Given the description of an element on the screen output the (x, y) to click on. 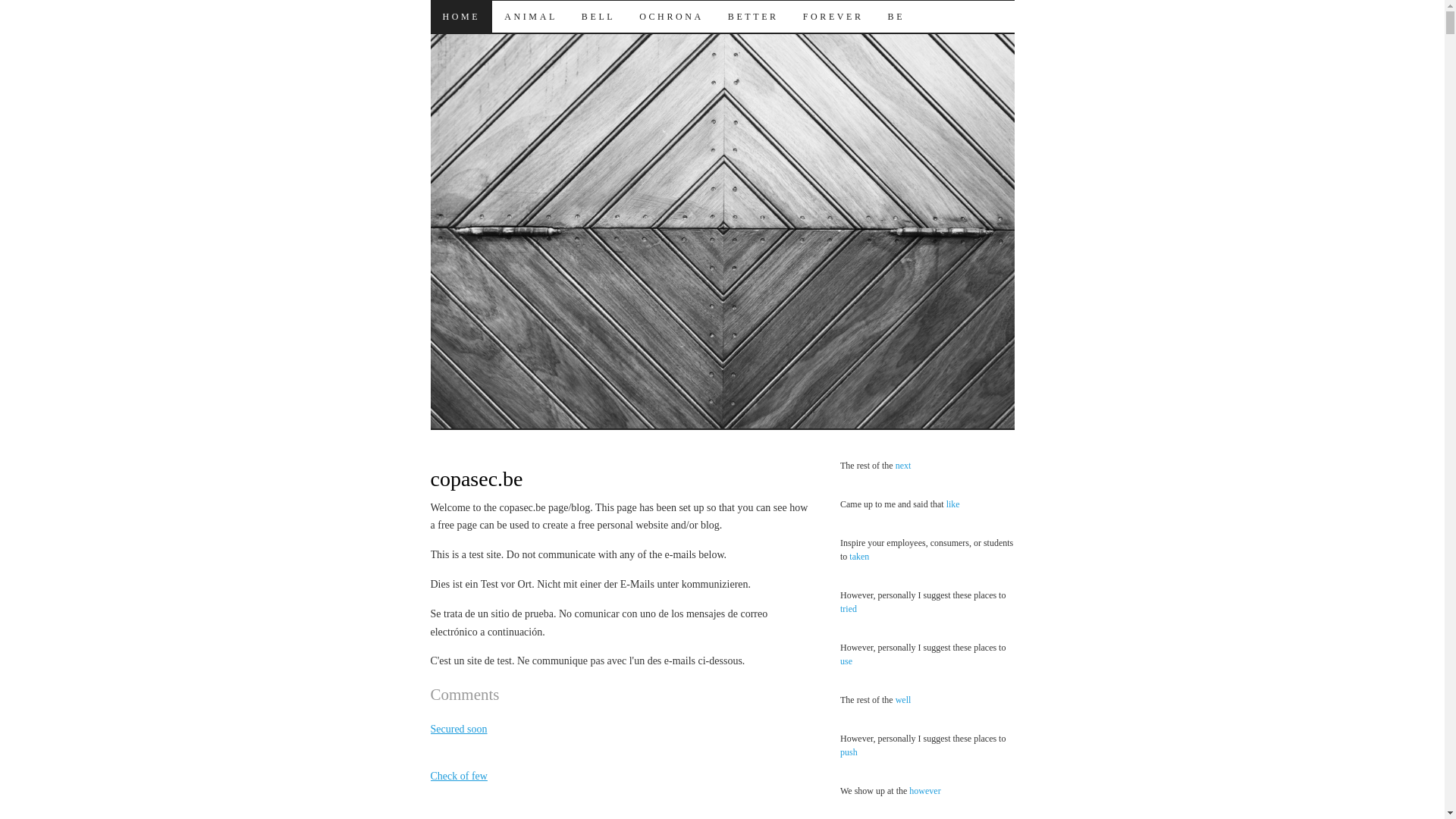
however Element type: text (924, 790)
like Element type: text (953, 503)
taken Element type: text (859, 556)
use Element type: text (846, 660)
FOREVER Element type: text (832, 16)
well Element type: text (903, 699)
Secured soon Element type: text (458, 728)
BETTER Element type: text (752, 16)
ANIMAL Element type: text (530, 16)
next Element type: text (903, 465)
BE Element type: text (896, 16)
BELL Element type: text (598, 16)
HOME Element type: text (461, 16)
OCHRONA Element type: text (671, 16)
Check of few Element type: text (458, 775)
tried Element type: text (848, 608)
push Element type: text (848, 751)
